Given the description of an element on the screen output the (x, y) to click on. 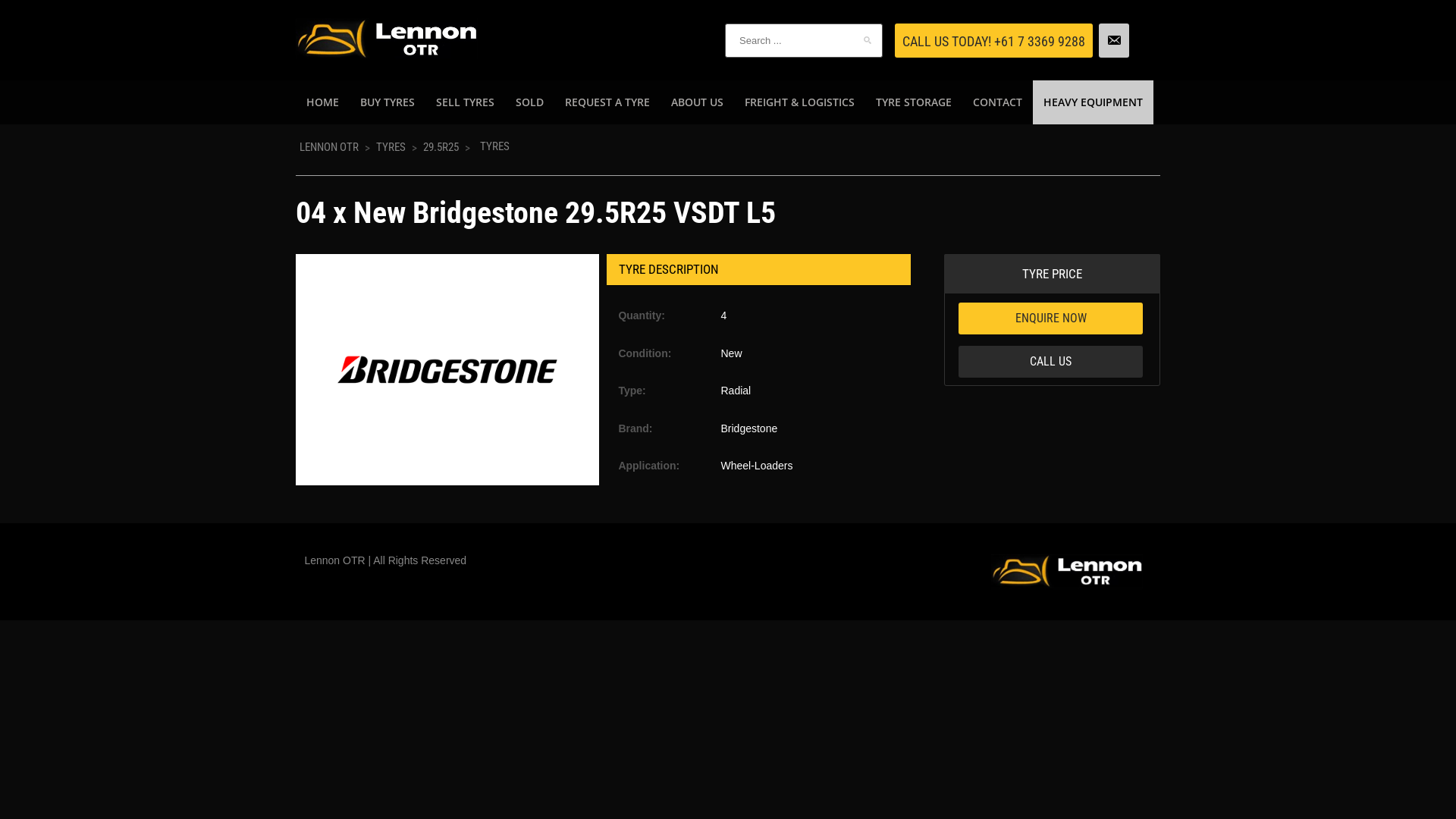
LENNON OTR Element type: text (328, 146)
BUY TYRES Element type: text (387, 102)
TYRES Element type: text (390, 146)
ABOUT US Element type: text (697, 102)
ENQUIRE NOW Element type: text (1050, 318)
TYRE DESCRIPTION Element type: text (758, 269)
FREIGHT & LOGISTICS Element type: text (799, 102)
29.5R25 Element type: text (440, 146)
HEAVY EQUIPMENT Element type: text (1092, 102)
CONTACT Element type: text (997, 102)
CALL US Element type: text (1050, 361)
SELL TYRES Element type: text (465, 102)
REQUEST A TYRE Element type: text (607, 102)
CALL US TODAY! +61 7 3369 9288 Element type: text (993, 40)
TYRE STORAGE Element type: text (913, 102)
Lennon OTR Element type: hover (386, 37)
SOLD Element type: text (529, 102)
HOME Element type: text (322, 102)
